Given the description of an element on the screen output the (x, y) to click on. 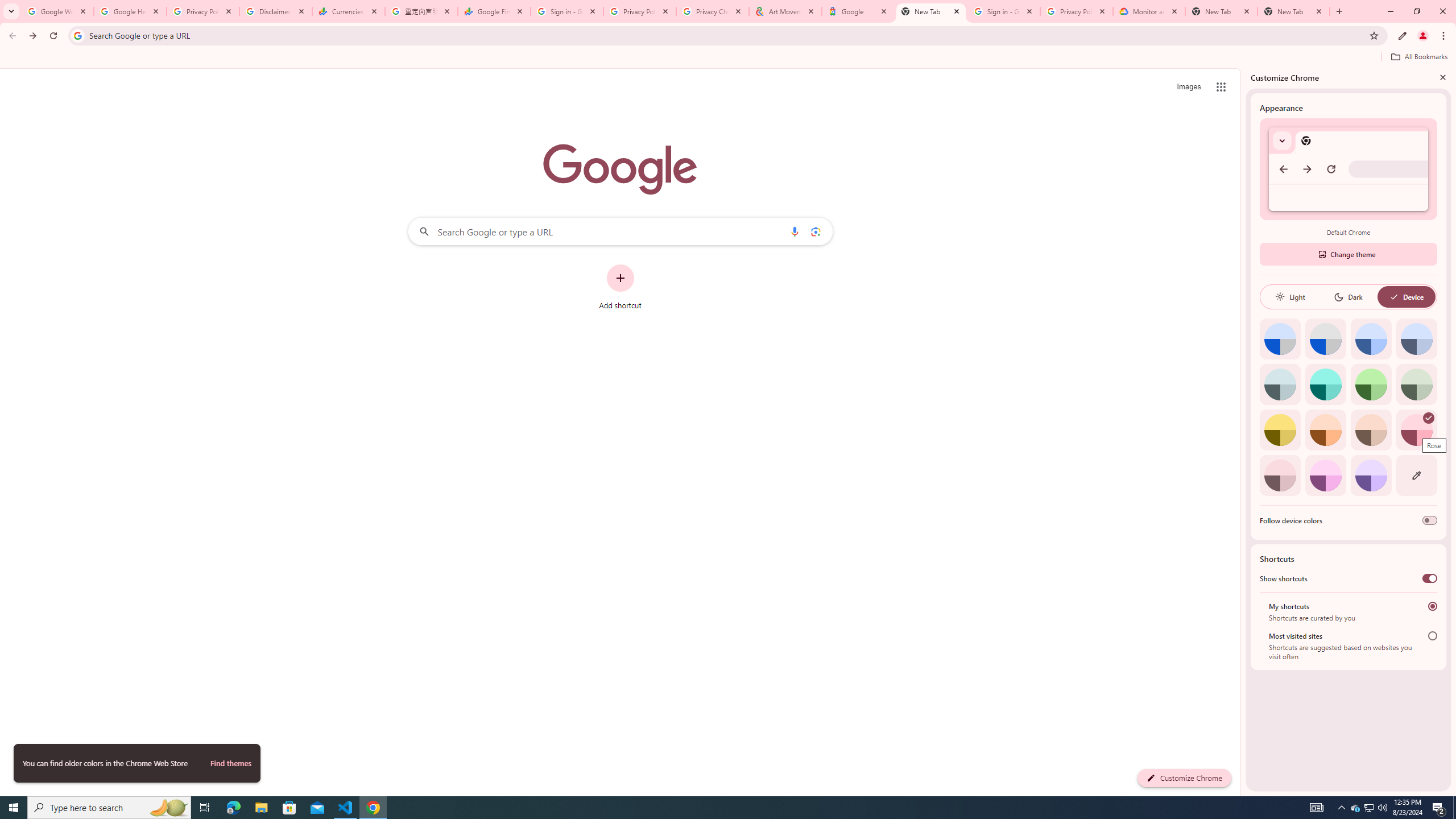
Device (1406, 296)
Custom color (1416, 475)
New Tab (1221, 11)
Orange (1325, 429)
Find themes (230, 762)
